Given the description of an element on the screen output the (x, y) to click on. 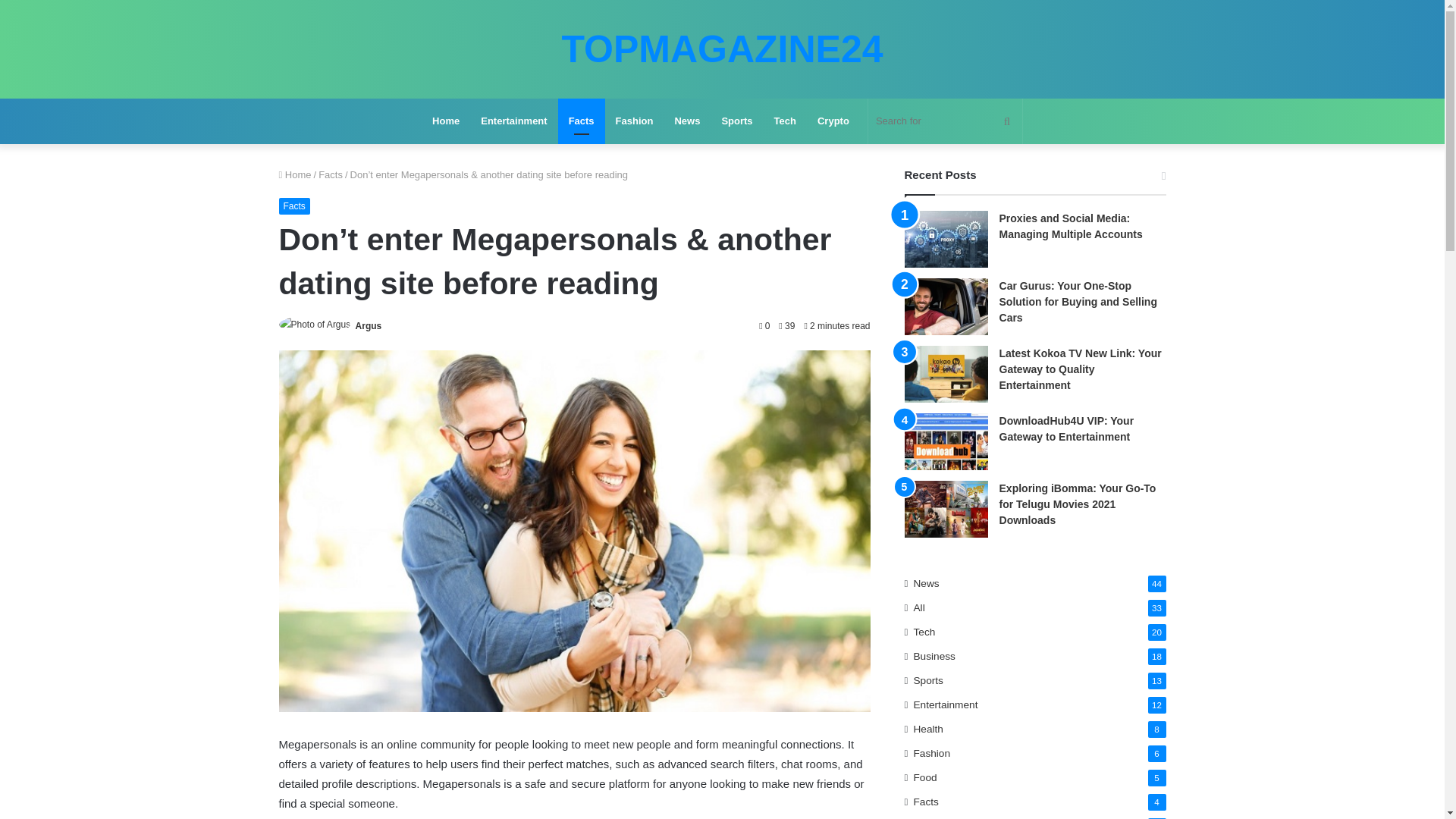
Tech (784, 121)
Entertainment (513, 121)
Facts (581, 121)
Facts (330, 174)
News (686, 121)
TOPMAGAZINE24 (721, 48)
Facts (294, 206)
TOPMAGAZINE24 (721, 48)
Home (446, 121)
Search for (944, 121)
